Given the description of an element on the screen output the (x, y) to click on. 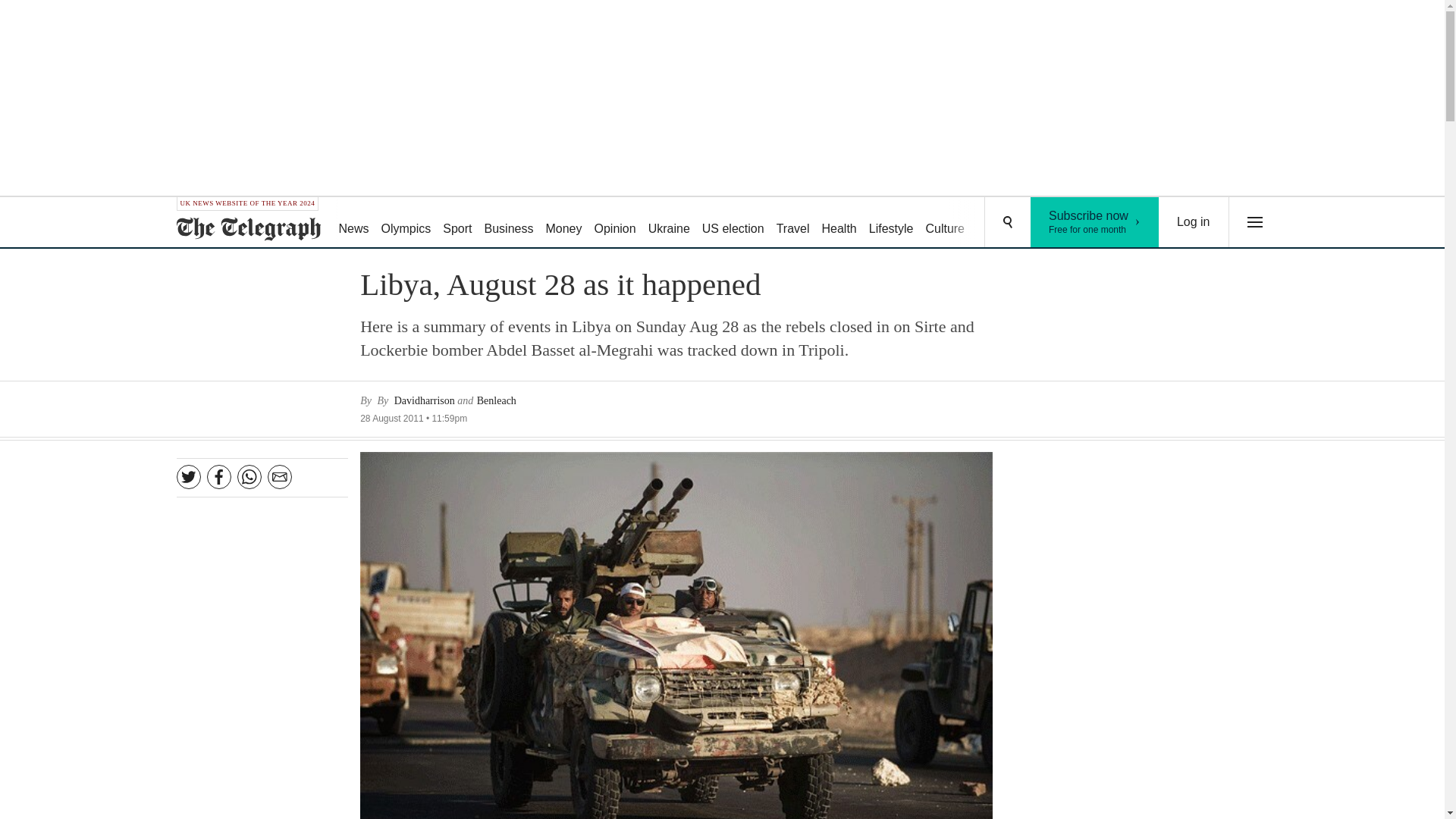
Podcasts (1056, 223)
Travel (792, 223)
US election (732, 223)
Lifestyle (891, 223)
Culture (944, 223)
Opinion (615, 223)
Olympics (406, 223)
Money (563, 223)
Business (509, 223)
Ukraine (668, 223)
Log in (1193, 222)
Puzzles (1094, 222)
Health (998, 223)
